Given the description of an element on the screen output the (x, y) to click on. 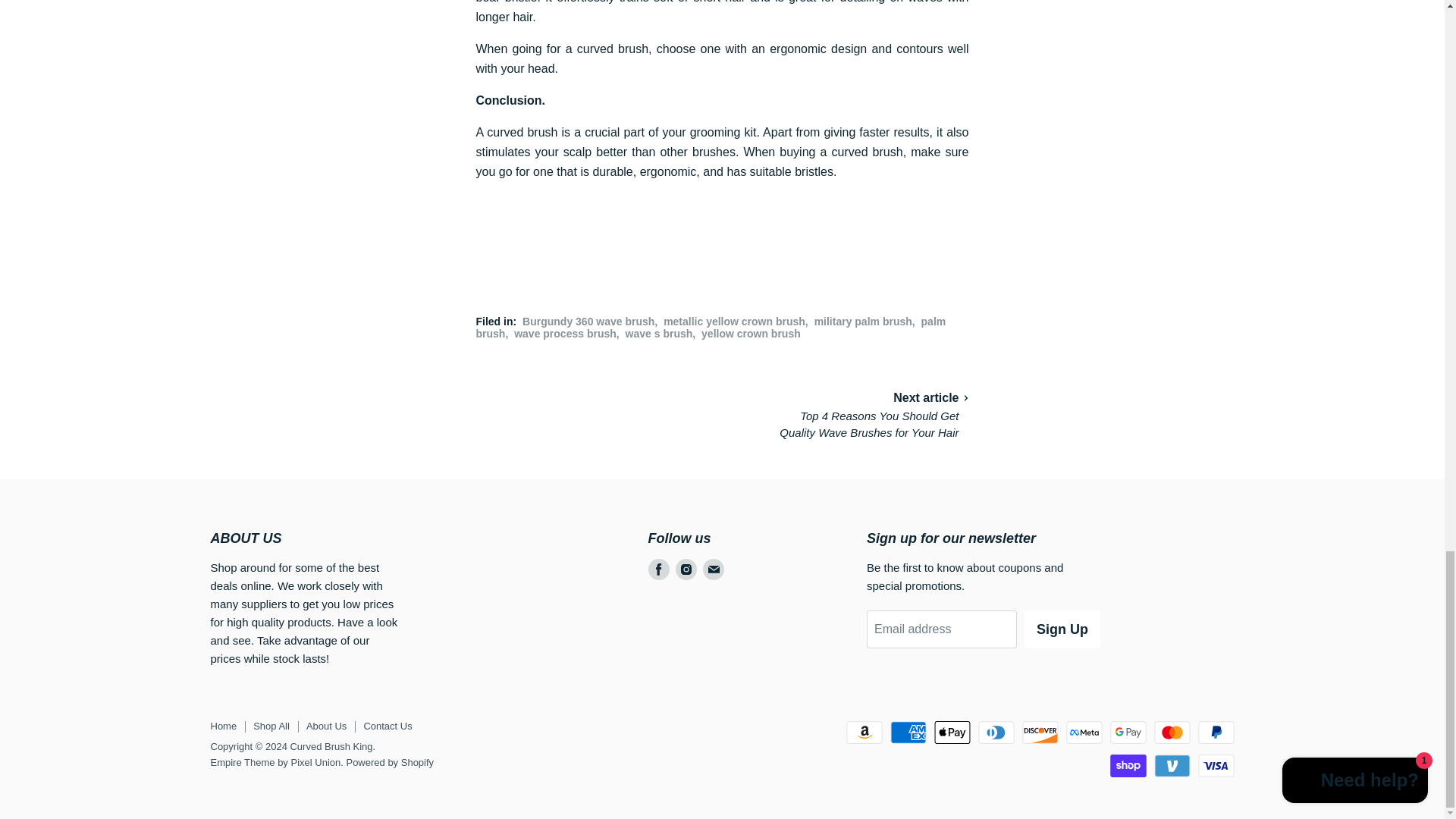
Amazon (863, 732)
Mastercard (1172, 732)
yellow crown brush (750, 333)
Meta Pay (1083, 732)
Show articles tagged metallic yellow crown brush (734, 321)
American Express (907, 732)
PayPal (1216, 732)
military palm brush (862, 321)
Apple Pay (952, 732)
Discover (1040, 732)
Show articles tagged wave s brush (659, 333)
Show articles tagged yellow crown brush (750, 333)
E-mail (712, 569)
Show articles tagged Burgundy 360 wave brush (587, 321)
Google Pay (1128, 732)
